Given the description of an element on the screen output the (x, y) to click on. 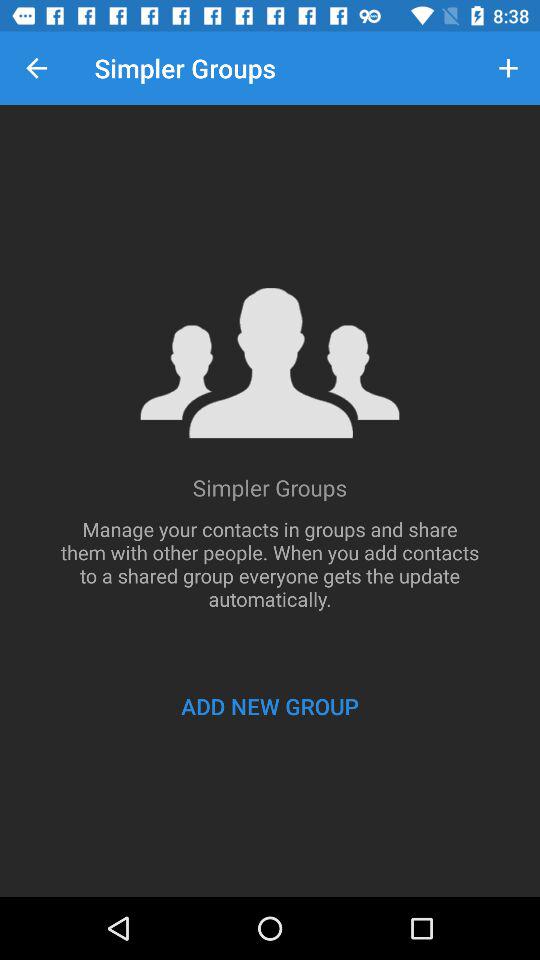
tap item next to the simpler groups (508, 67)
